Given the description of an element on the screen output the (x, y) to click on. 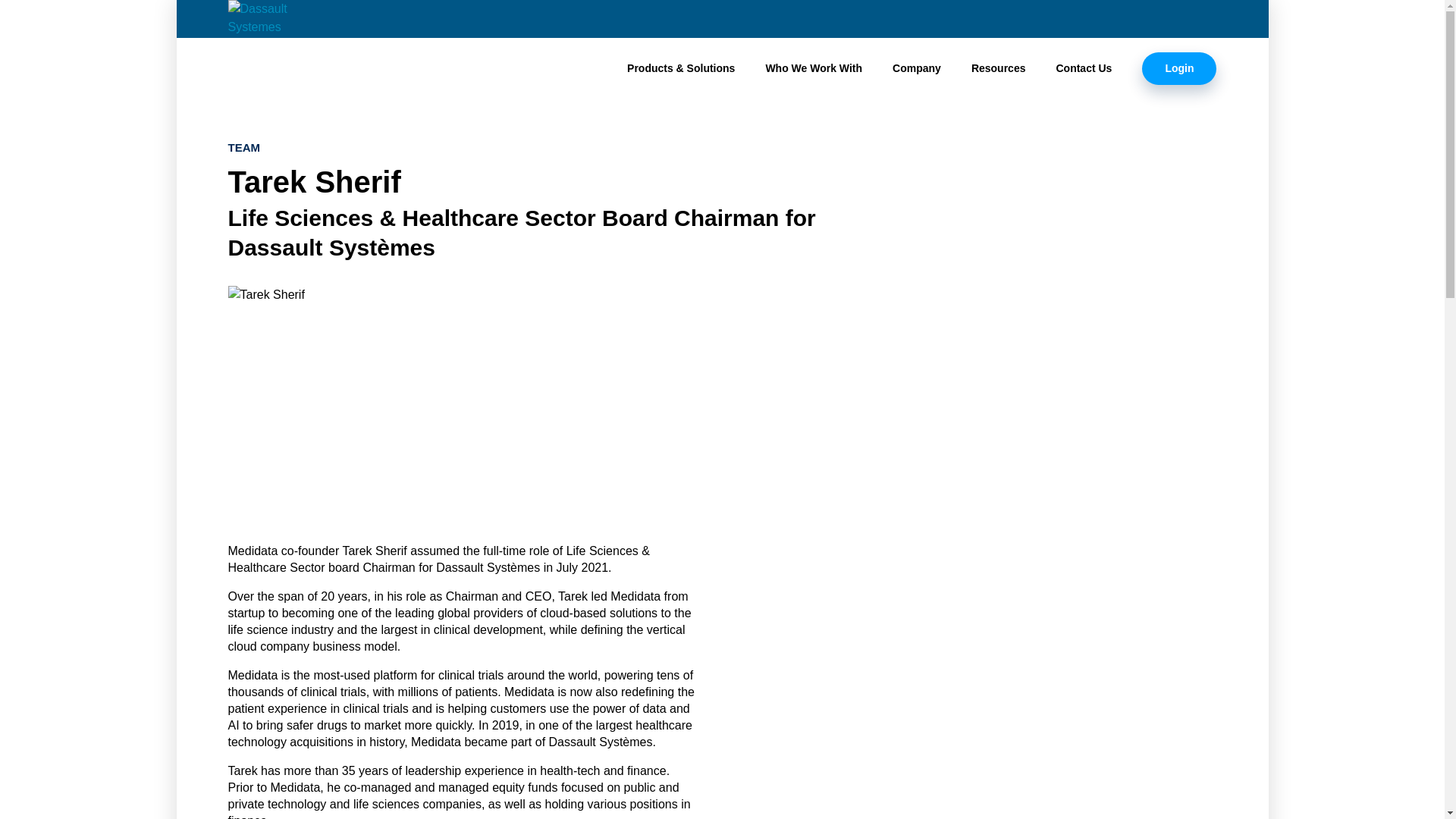
Medidata (291, 65)
Medidata (291, 65)
